Given the description of an element on the screen output the (x, y) to click on. 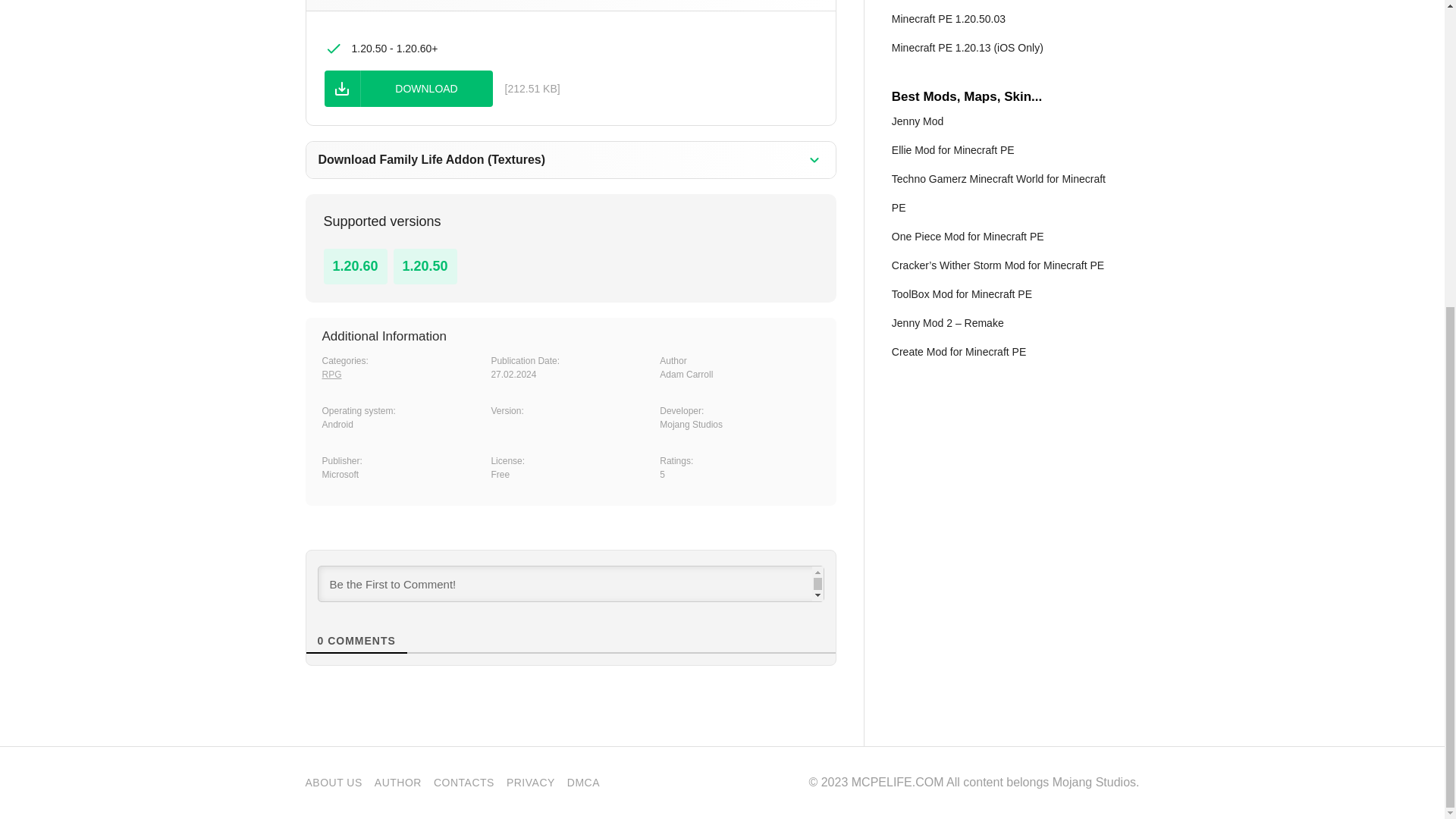
1.20.60 (354, 265)
1.20.50 (425, 265)
RPG (330, 374)
Minecraft PE 1.20.50.03 (948, 19)
DOWNLOAD (408, 88)
